Given the description of an element on the screen output the (x, y) to click on. 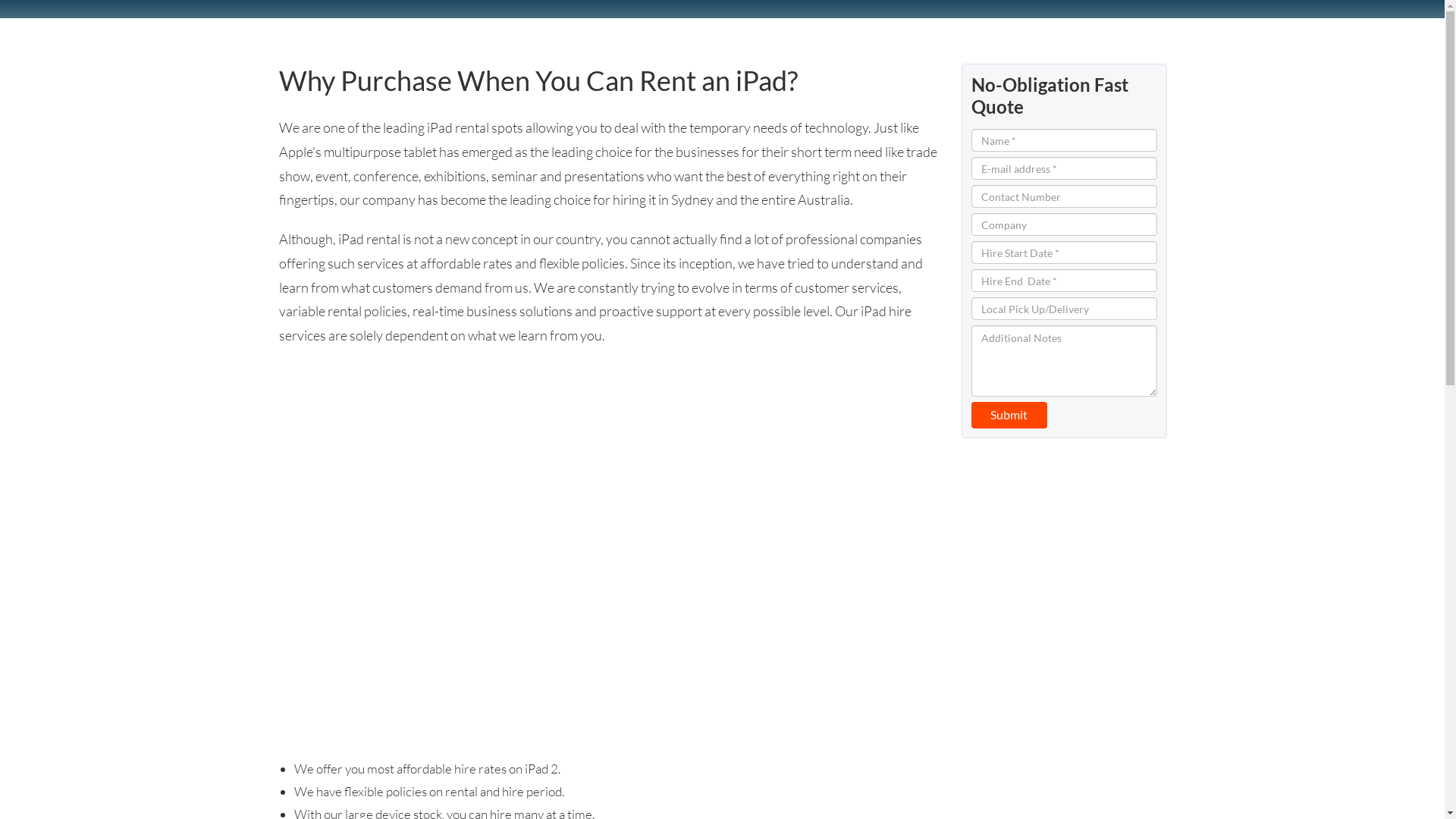
Submit Element type: text (1008, 414)
